Given the description of an element on the screen output the (x, y) to click on. 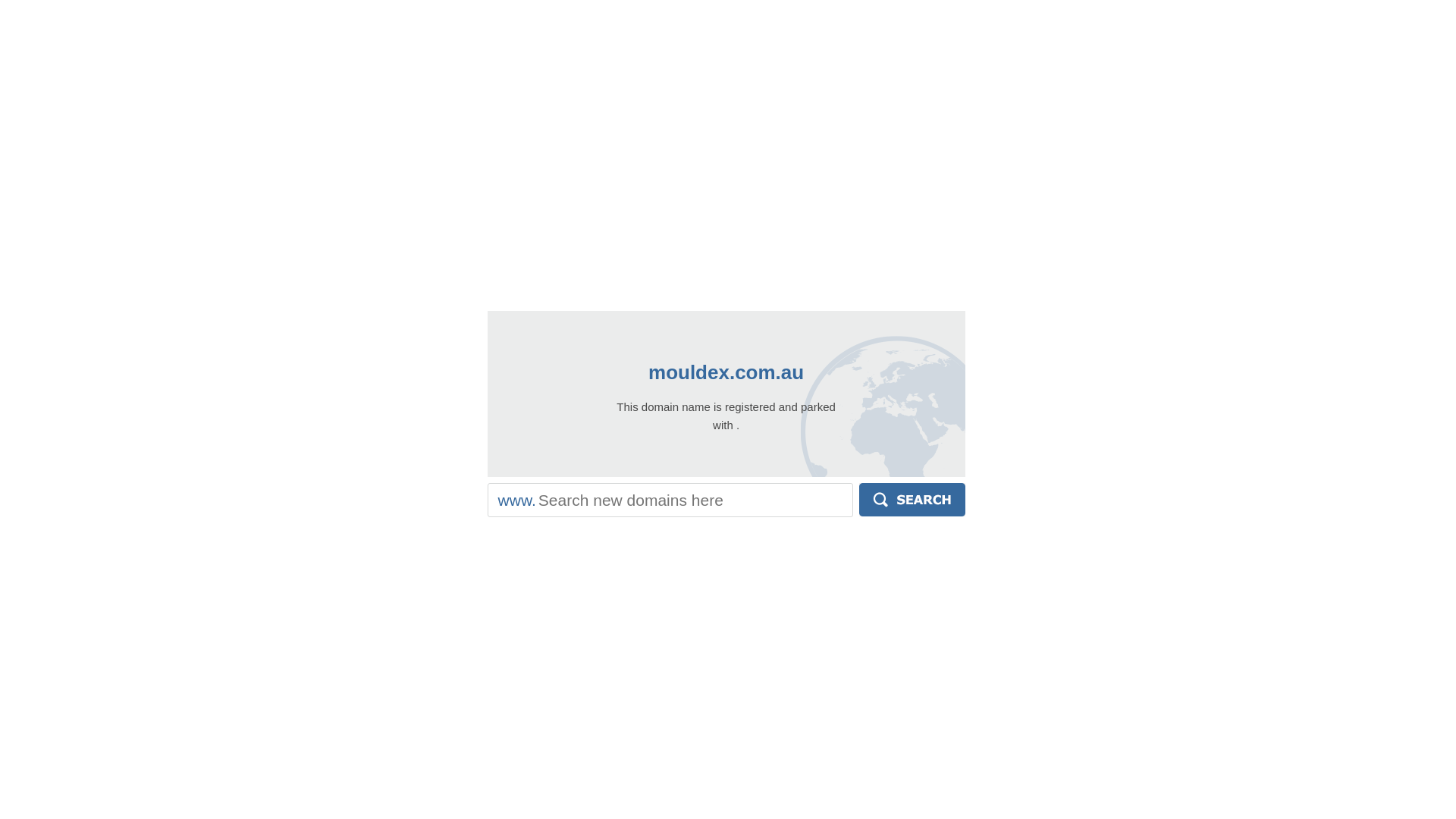
Search Element type: text (912, 499)
